Given the description of an element on the screen output the (x, y) to click on. 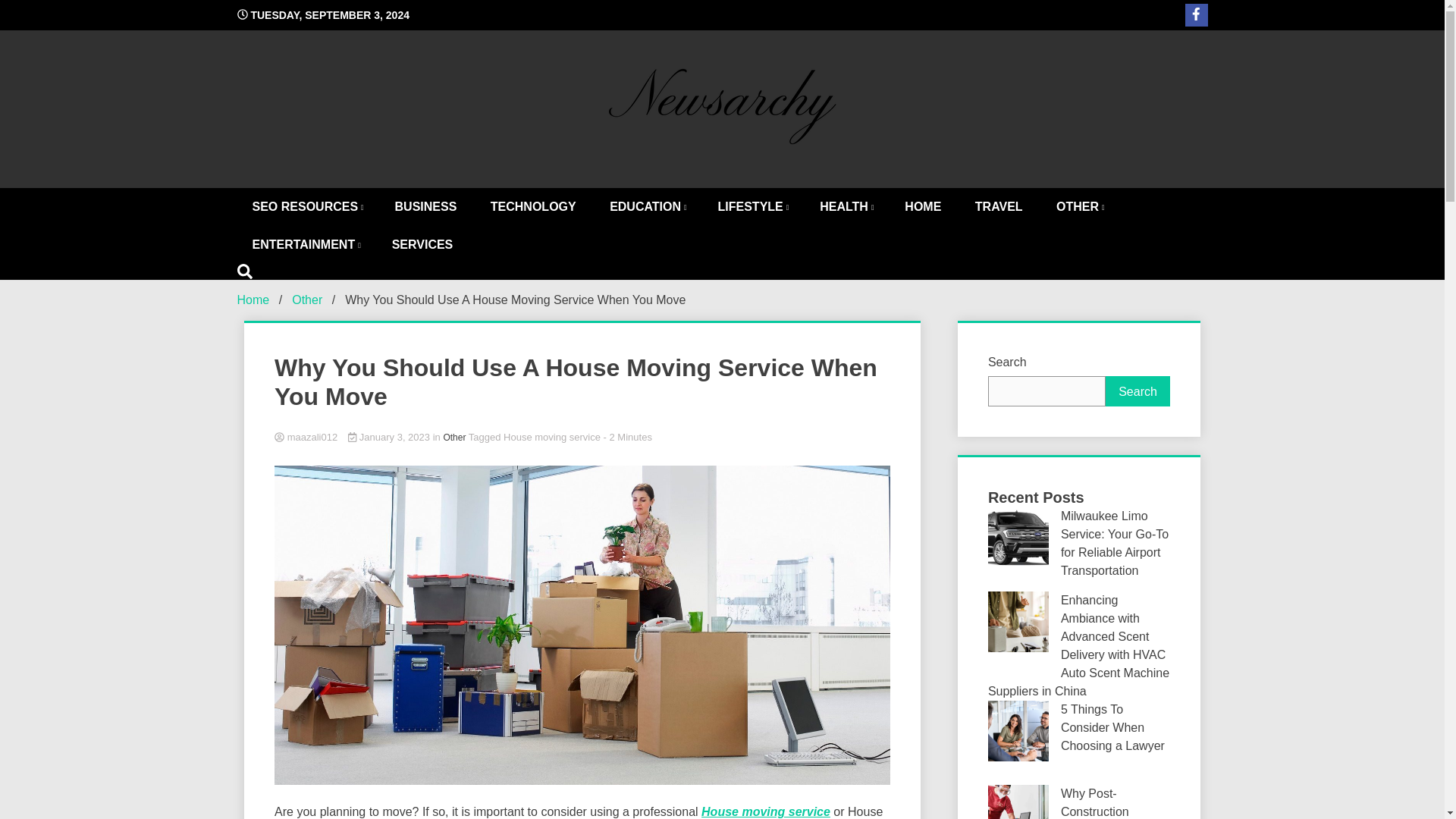
SEO RESOURCES (305, 207)
Other (453, 437)
EDUCATION (646, 207)
Estimated Reading Time of Article (628, 437)
Home (252, 298)
HOME (922, 207)
January 3, 2023 (389, 437)
LIFESTYLE (752, 207)
TRAVEL (998, 207)
Other (306, 298)
